Given the description of an element on the screen output the (x, y) to click on. 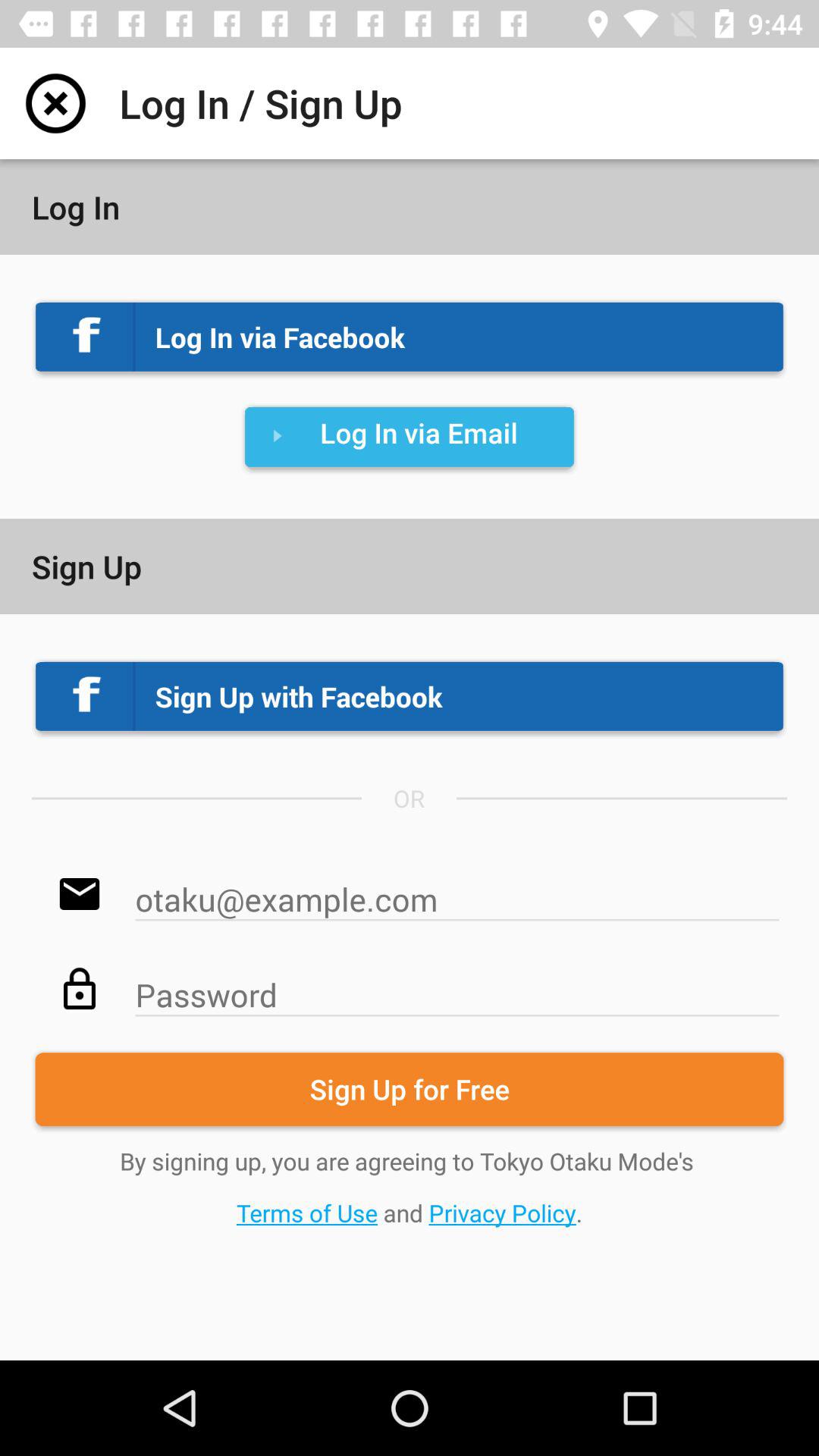
tap app next to the log in sign app (55, 103)
